Given the description of an element on the screen output the (x, y) to click on. 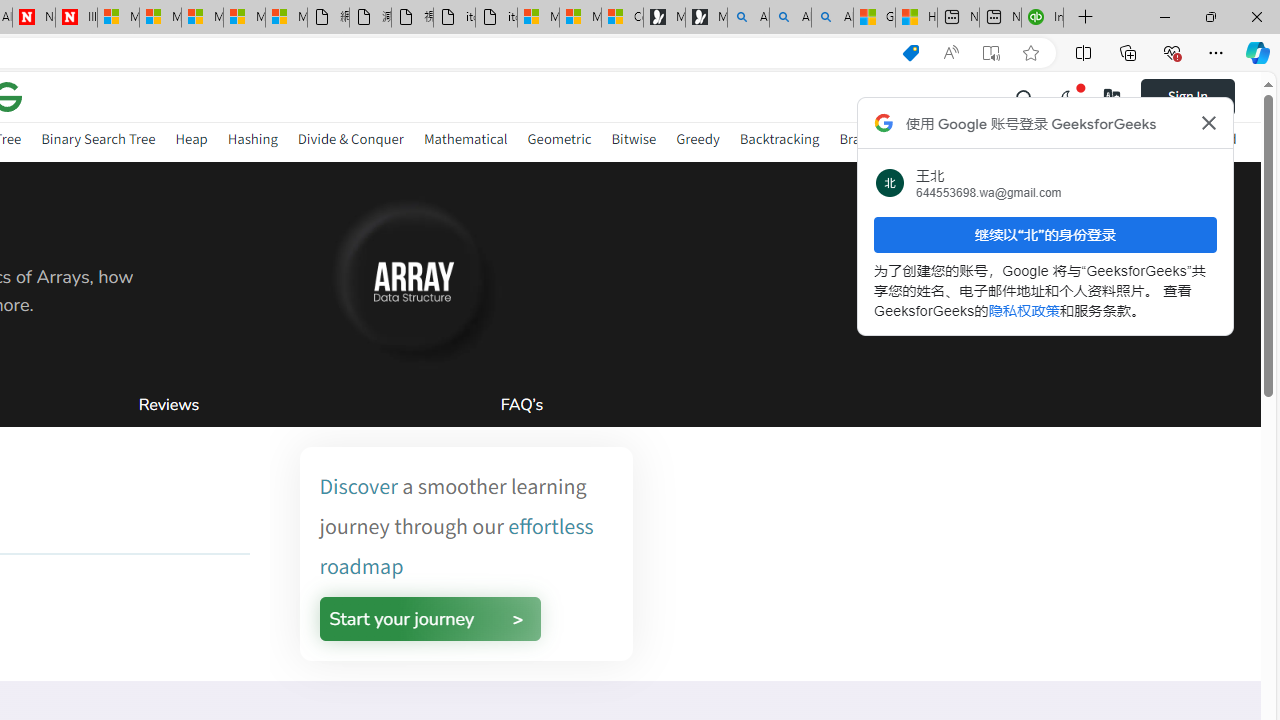
How to Use a TV as a Computer Monitor (916, 17)
Bitwise (633, 138)
Illness news & latest pictures from Newsweek.com (76, 17)
Geometric (559, 138)
Start your journey > (429, 618)
Binary Search Tree (98, 142)
Divide & Conquer (349, 138)
Binary Search Tree (98, 138)
